Given the description of an element on the screen output the (x, y) to click on. 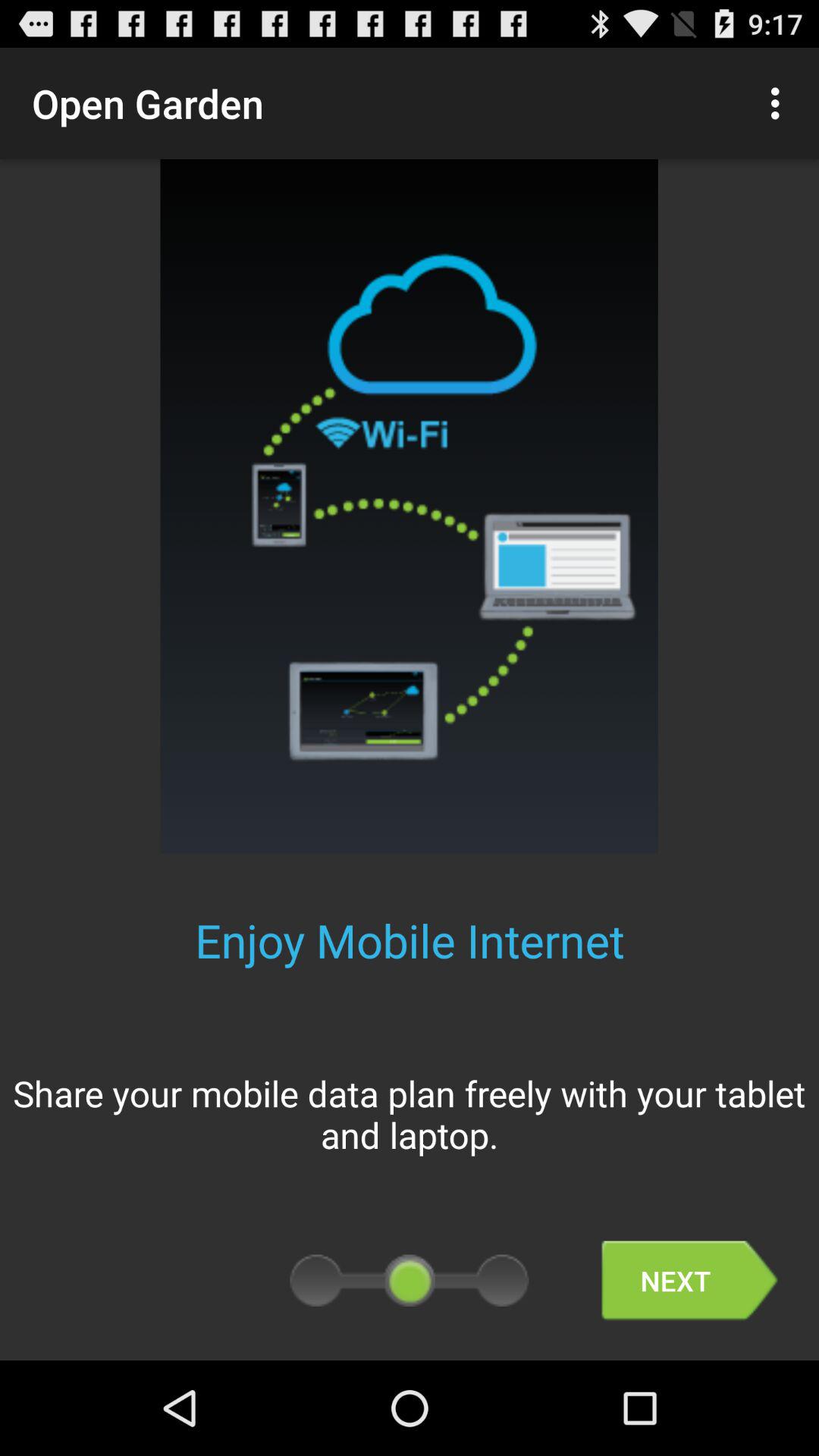
turn on the icon at the top right corner (779, 103)
